Given the description of an element on the screen output the (x, y) to click on. 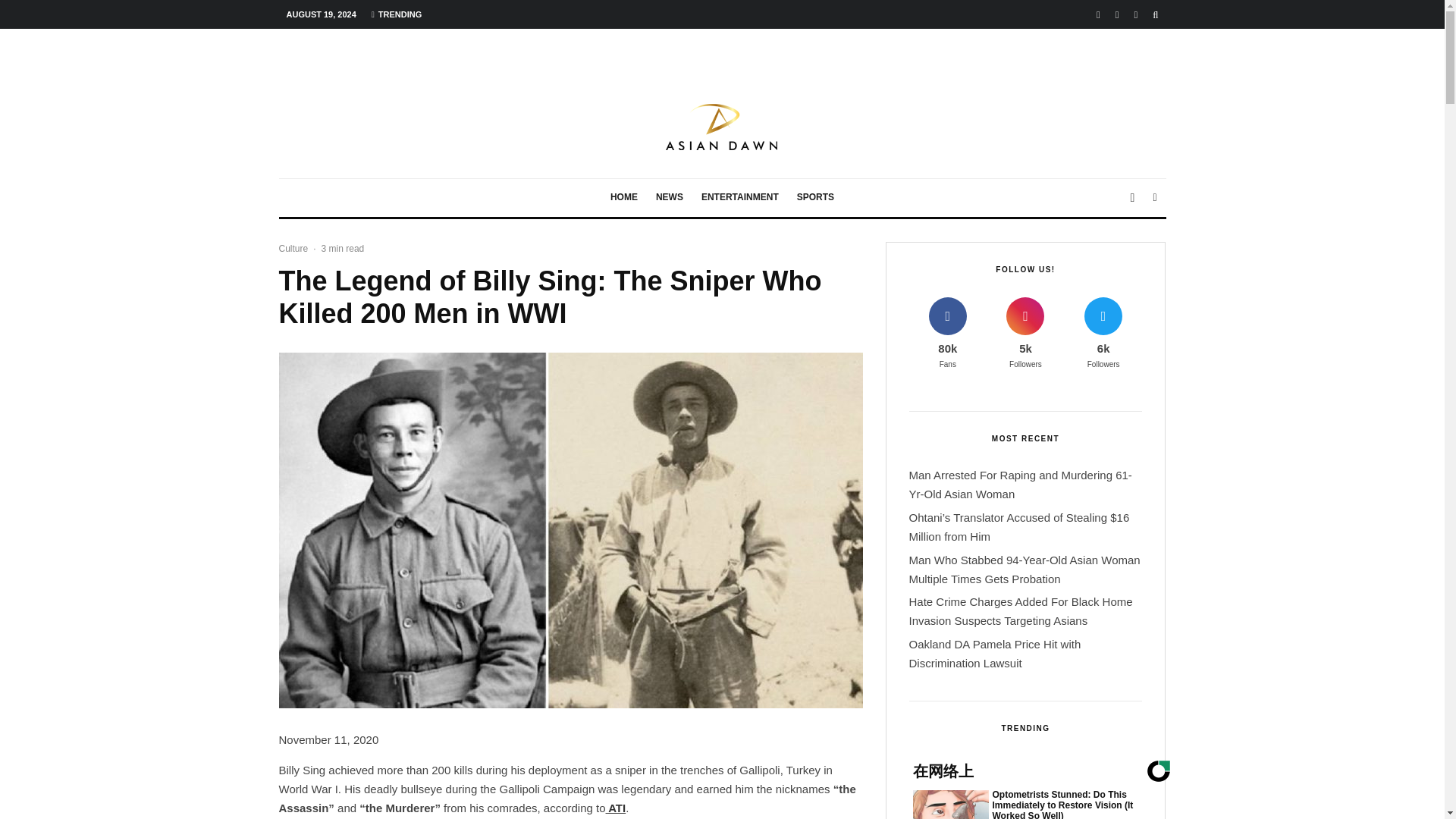
SPORTS (815, 198)
TRENDING (396, 14)
ENTERTAINMENT (740, 198)
HOME (623, 198)
NEWS (669, 198)
